Given the description of an element on the screen output the (x, y) to click on. 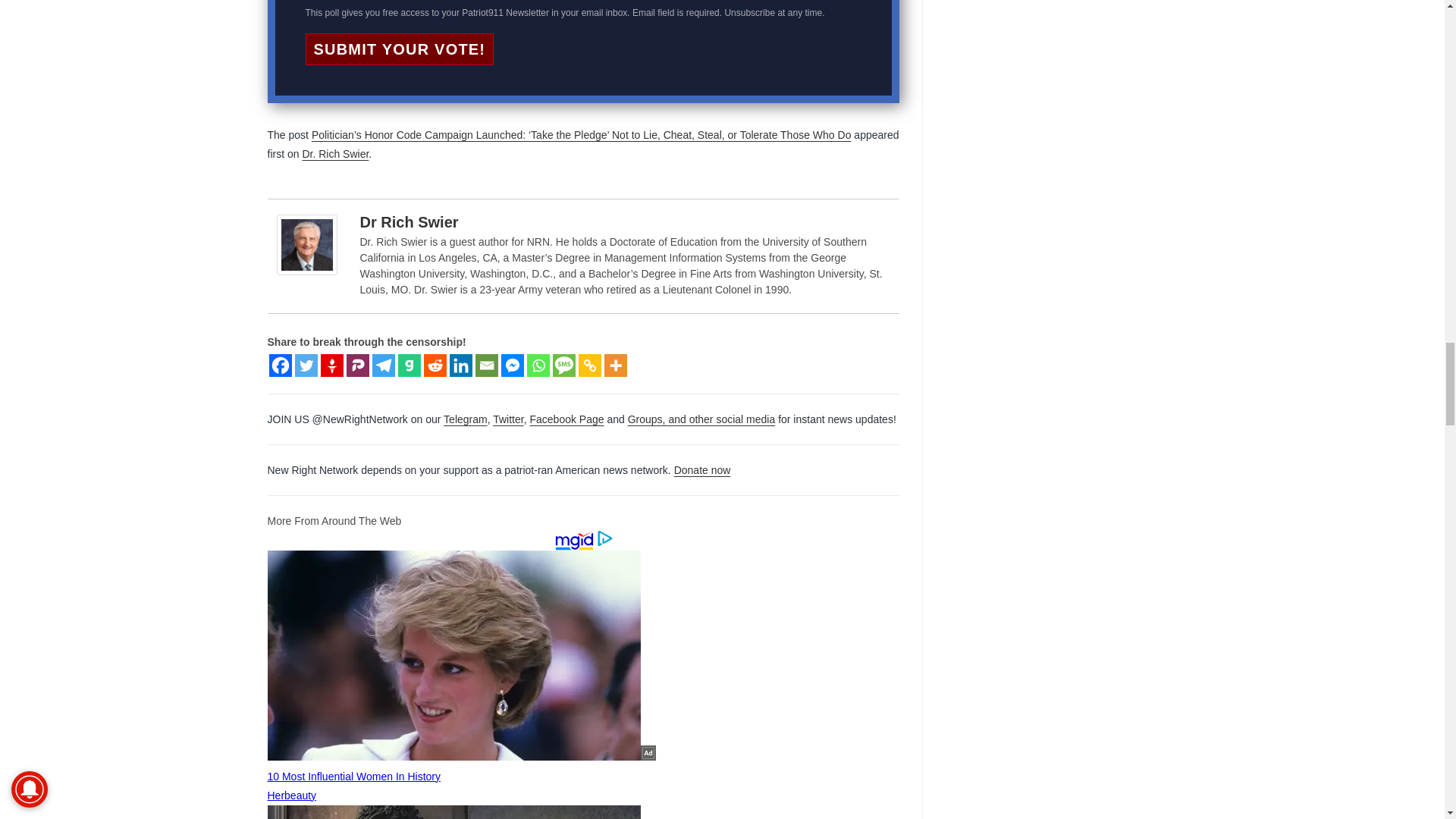
Dr Rich Swier (309, 244)
